Given the description of an element on the screen output the (x, y) to click on. 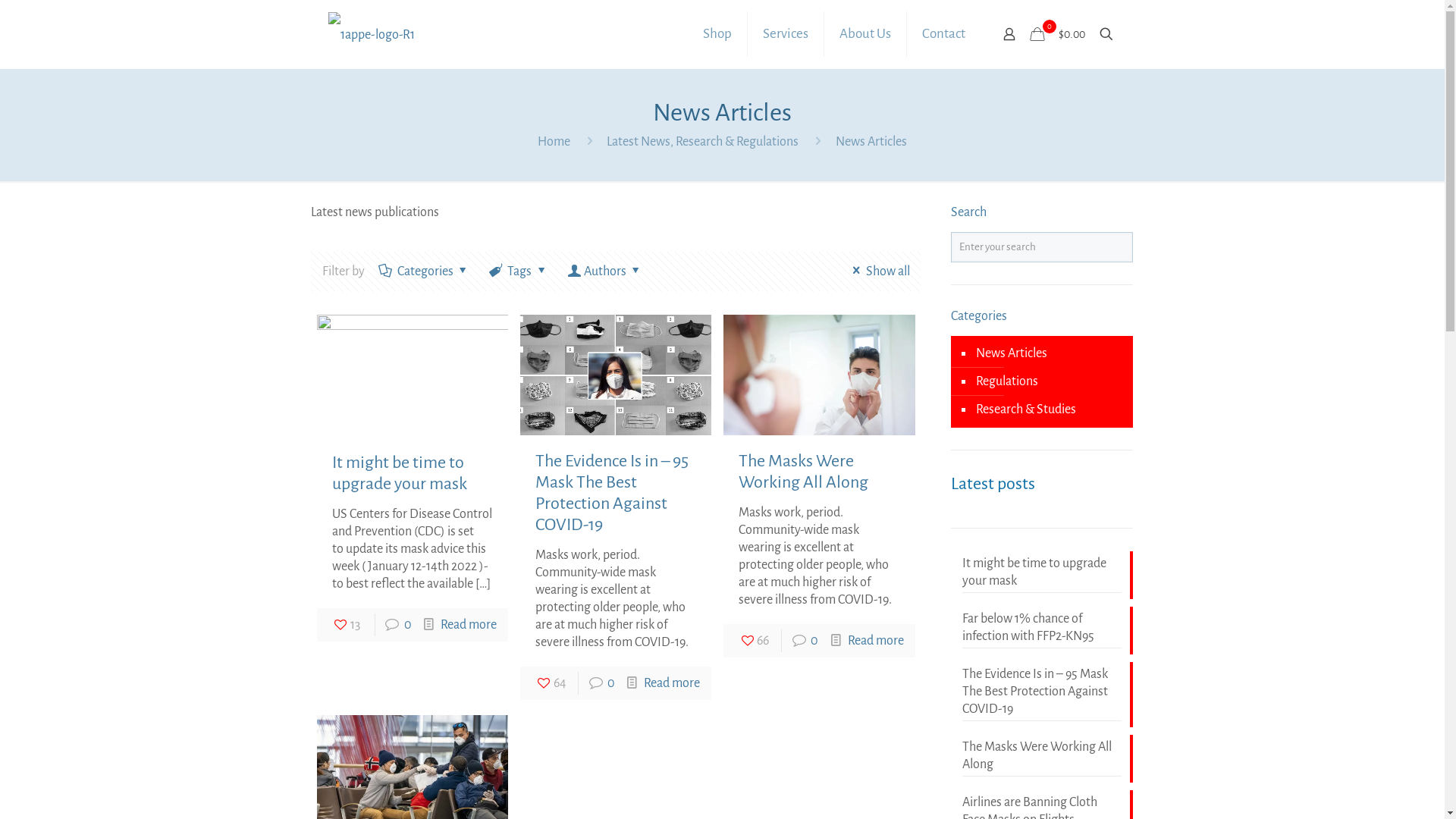
The Masks Were Working All Along Element type: text (1041, 757)
66 Element type: text (753, 640)
0
$0.00 Element type: text (1057, 33)
Contact Element type: text (943, 34)
1st America PPE - Certified USA Protection Element type: hover (371, 34)
64 Element type: text (550, 682)
Latest News, Research & Regulations Element type: text (702, 141)
Tags Element type: text (519, 271)
0 Element type: text (407, 624)
Research & Studies Element type: text (1024, 409)
Regulations Element type: text (1005, 381)
Far below 1% chance of infection with FFP2-KN95 Element type: text (1041, 629)
News Articles Element type: text (870, 141)
Read more Element type: text (468, 624)
Show all Element type: text (878, 271)
Authors Element type: text (604, 271)
Categories Element type: text (425, 271)
It might be time to upgrade your mask Element type: text (399, 472)
Read more Element type: text (671, 683)
It might be time to upgrade your mask Element type: text (1041, 574)
Home Element type: text (553, 141)
About Us Element type: text (865, 34)
0 Element type: text (814, 640)
Read more Element type: text (875, 640)
13 Element type: text (346, 624)
Services Element type: text (785, 34)
The Masks Were Working All Along Element type: text (803, 471)
0 Element type: text (611, 683)
News Articles Element type: text (1010, 353)
Shop Element type: text (717, 34)
